Given the description of an element on the screen output the (x, y) to click on. 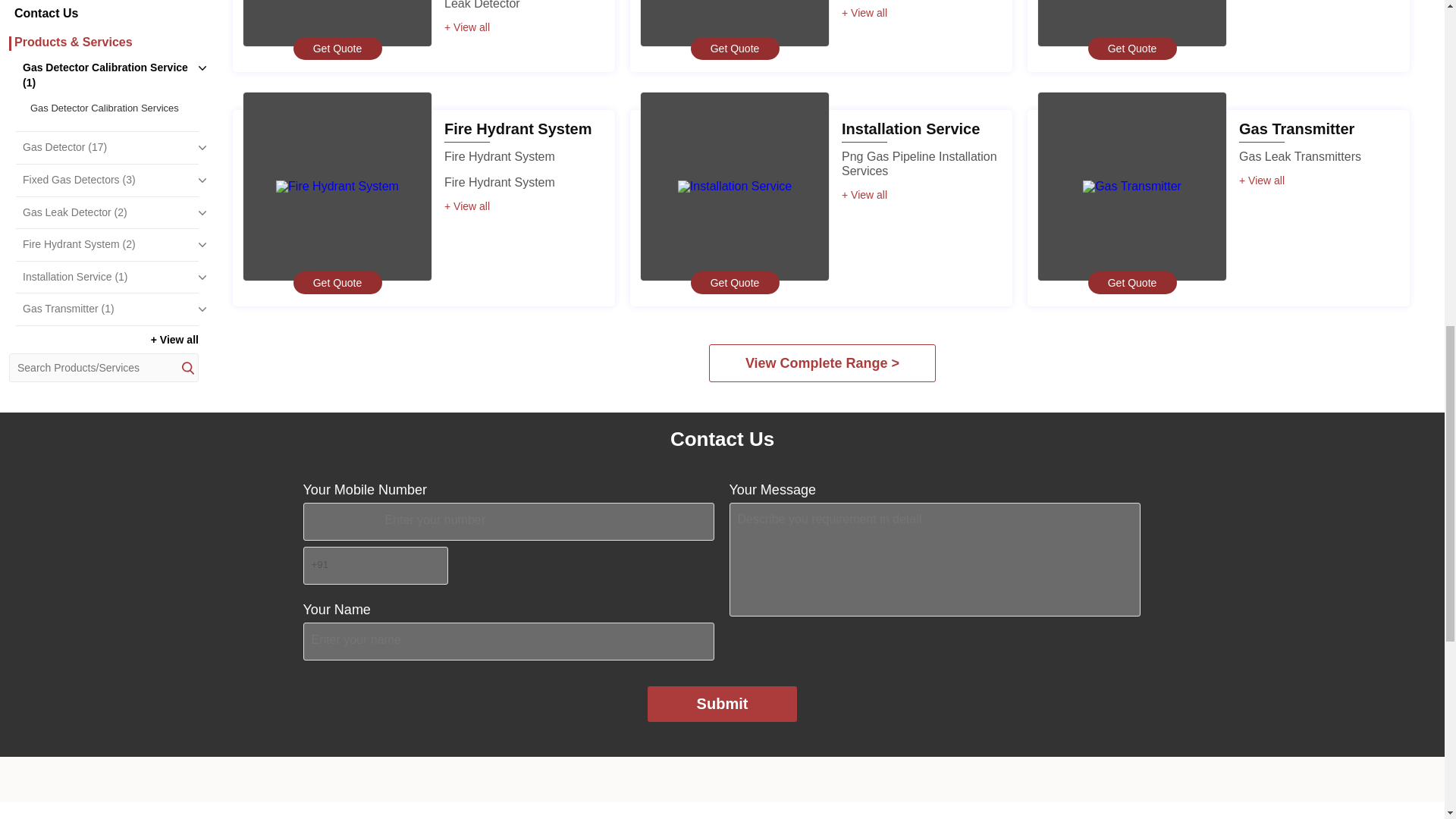
Submit (722, 703)
